Given the description of an element on the screen output the (x, y) to click on. 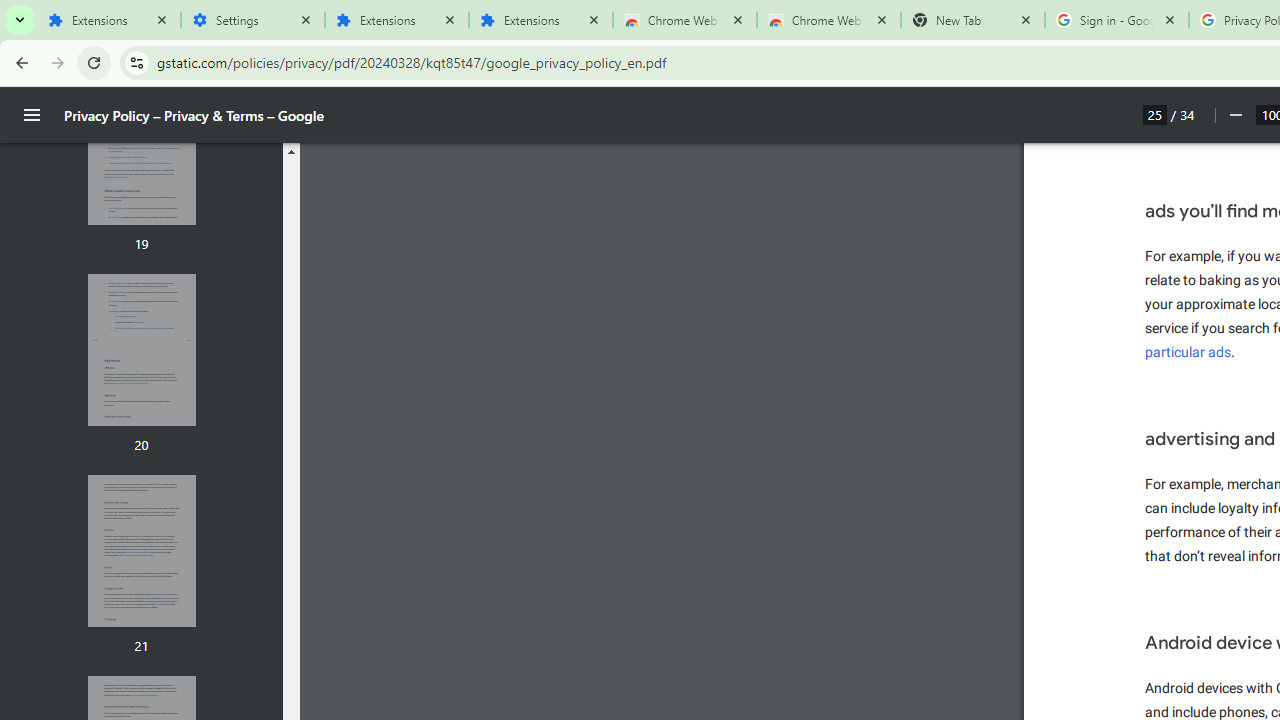
Extensions (396, 20)
Thumbnail for page 21 (141, 551)
Sign in - Google Accounts (1116, 20)
Thumbnail for page 20 (141, 349)
Settings (252, 20)
